Given the description of an element on the screen output the (x, y) to click on. 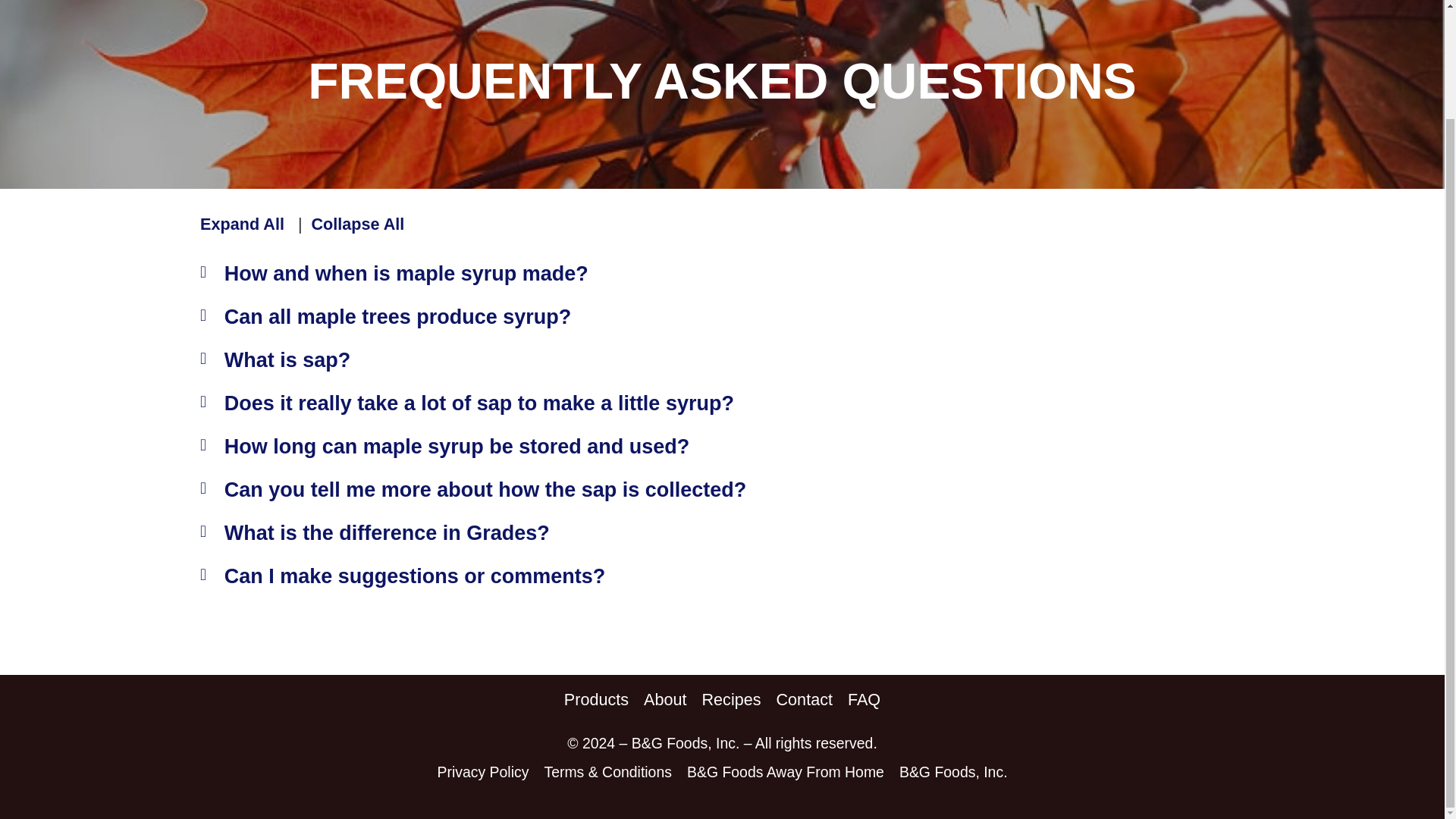
Products (596, 699)
How long can maple syrup be stored and used? (457, 445)
What is sap? (287, 359)
Collapse All (357, 223)
FAQ (863, 699)
How and when is maple syrup made? (406, 272)
Recipes (731, 699)
Can all maple trees produce syrup? (398, 316)
Contact (804, 699)
What is the difference in Grades? (387, 531)
